Given the description of an element on the screen output the (x, y) to click on. 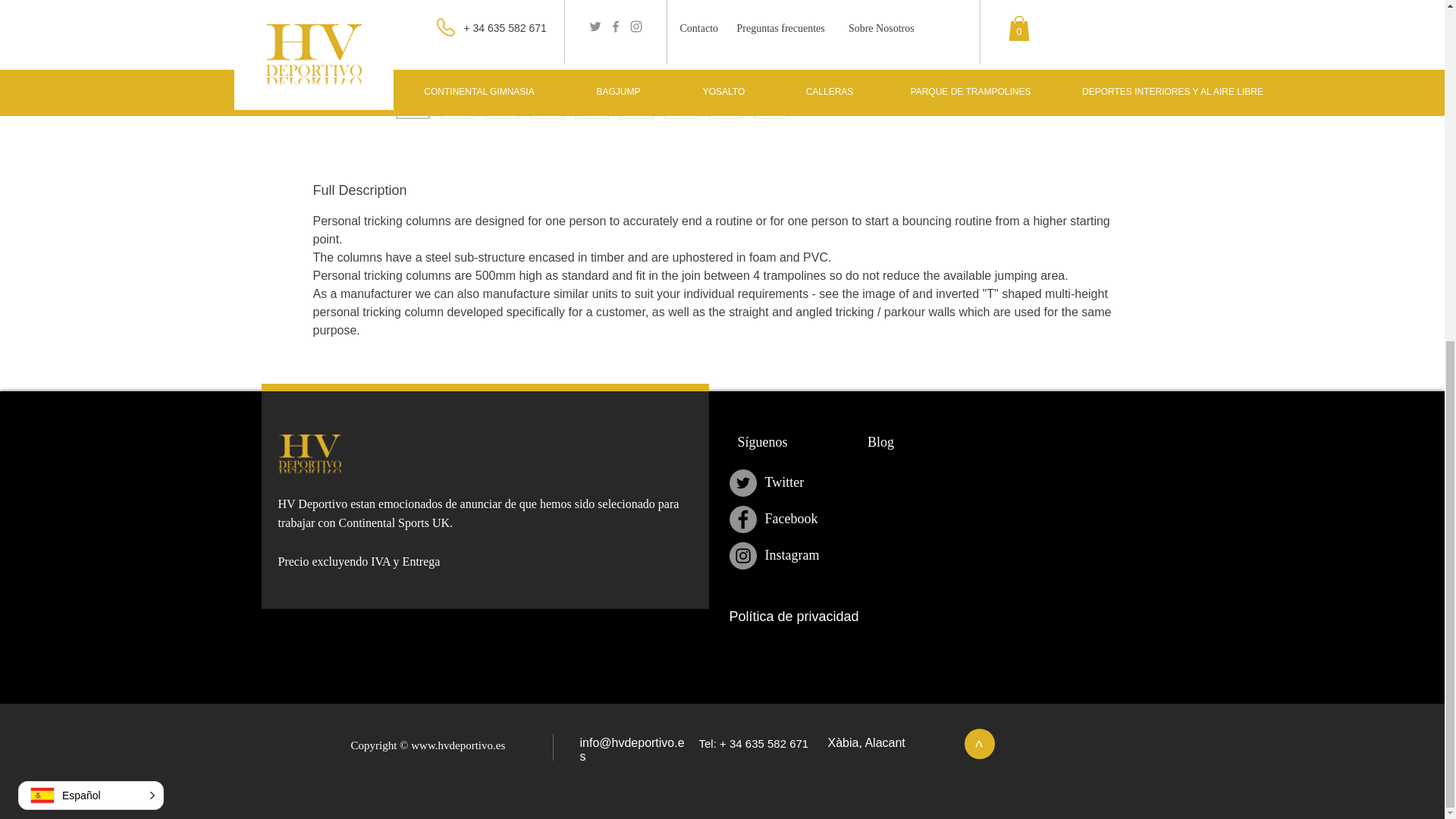
Cookie Alert (957, 680)
